Given the description of an element on the screen output the (x, y) to click on. 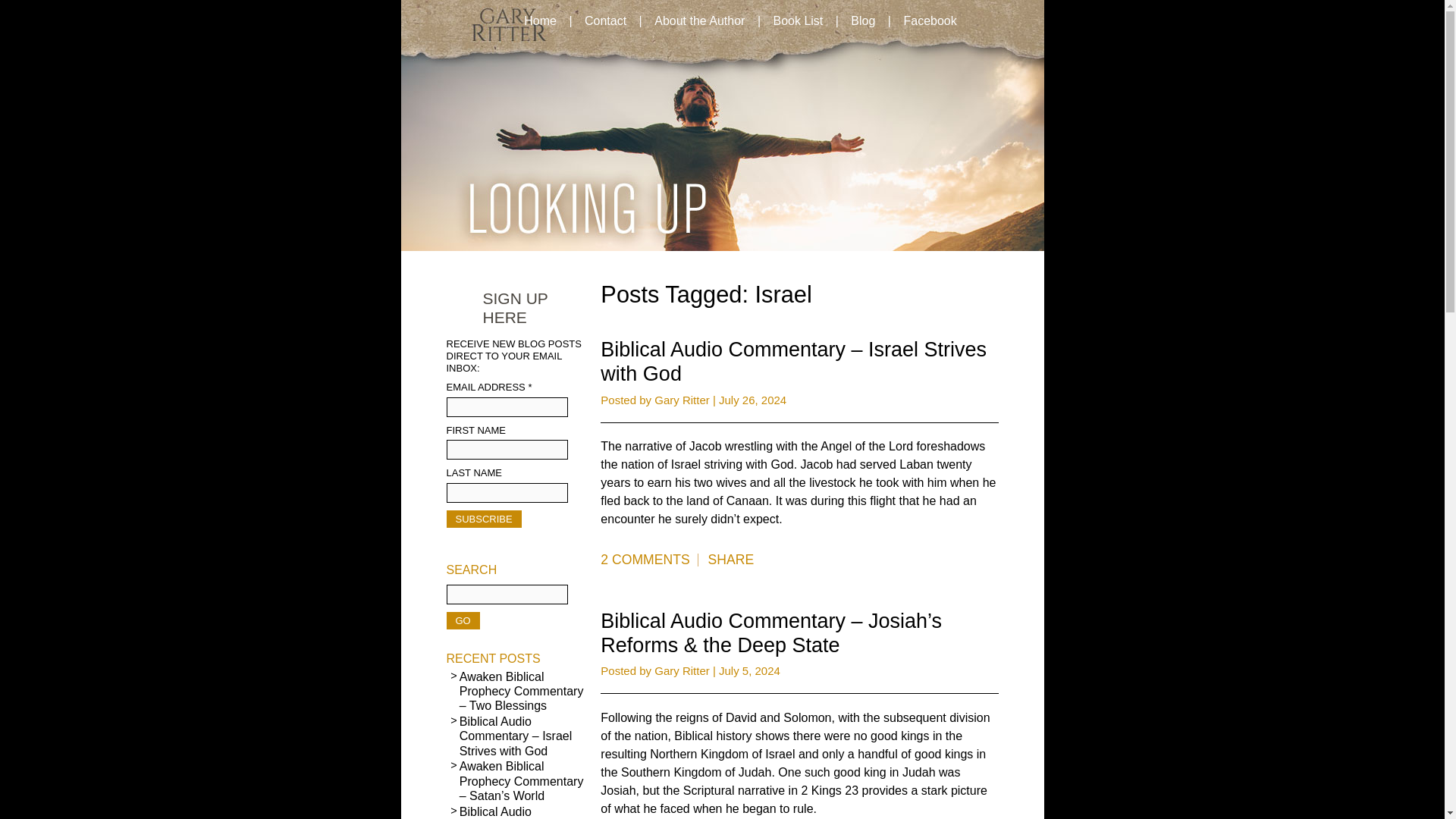
Subscribe (483, 518)
Go (462, 620)
Contact (604, 20)
Book List (796, 20)
Facebook (929, 20)
Blog (862, 20)
2 COMMENTS (648, 560)
SHARE (730, 560)
Home (540, 20)
About the Author (699, 20)
